Given the description of an element on the screen output the (x, y) to click on. 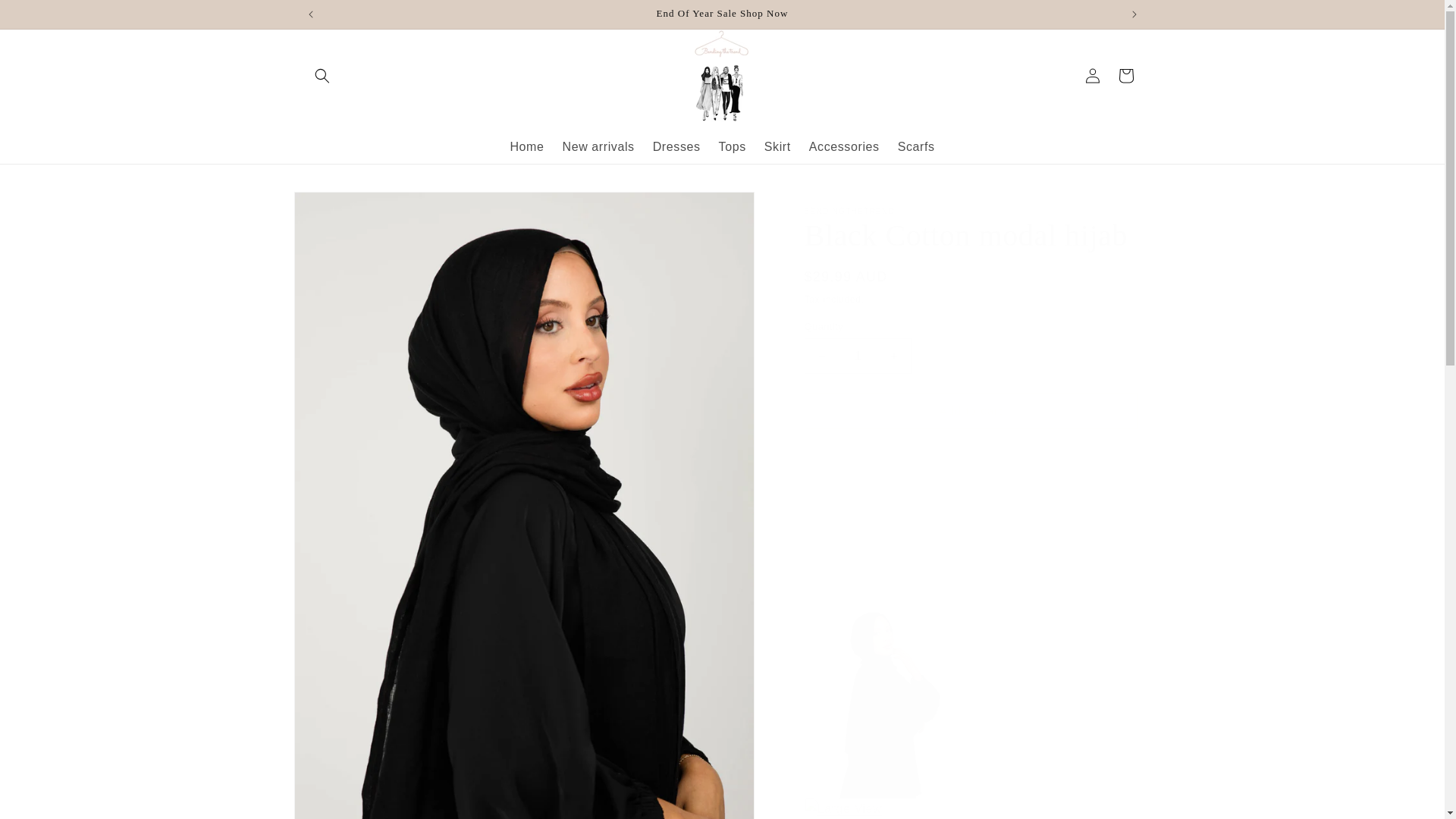
New arrivals (598, 147)
Skirt (777, 147)
Large View (879, 785)
Scarfs (915, 147)
1 (857, 355)
Increase quantity for Black Cotton modal hijab (893, 355)
Cart (1124, 75)
Skip to product information (328, 208)
Skip to content (45, 17)
Accessories (843, 147)
